Given the description of an element on the screen output the (x, y) to click on. 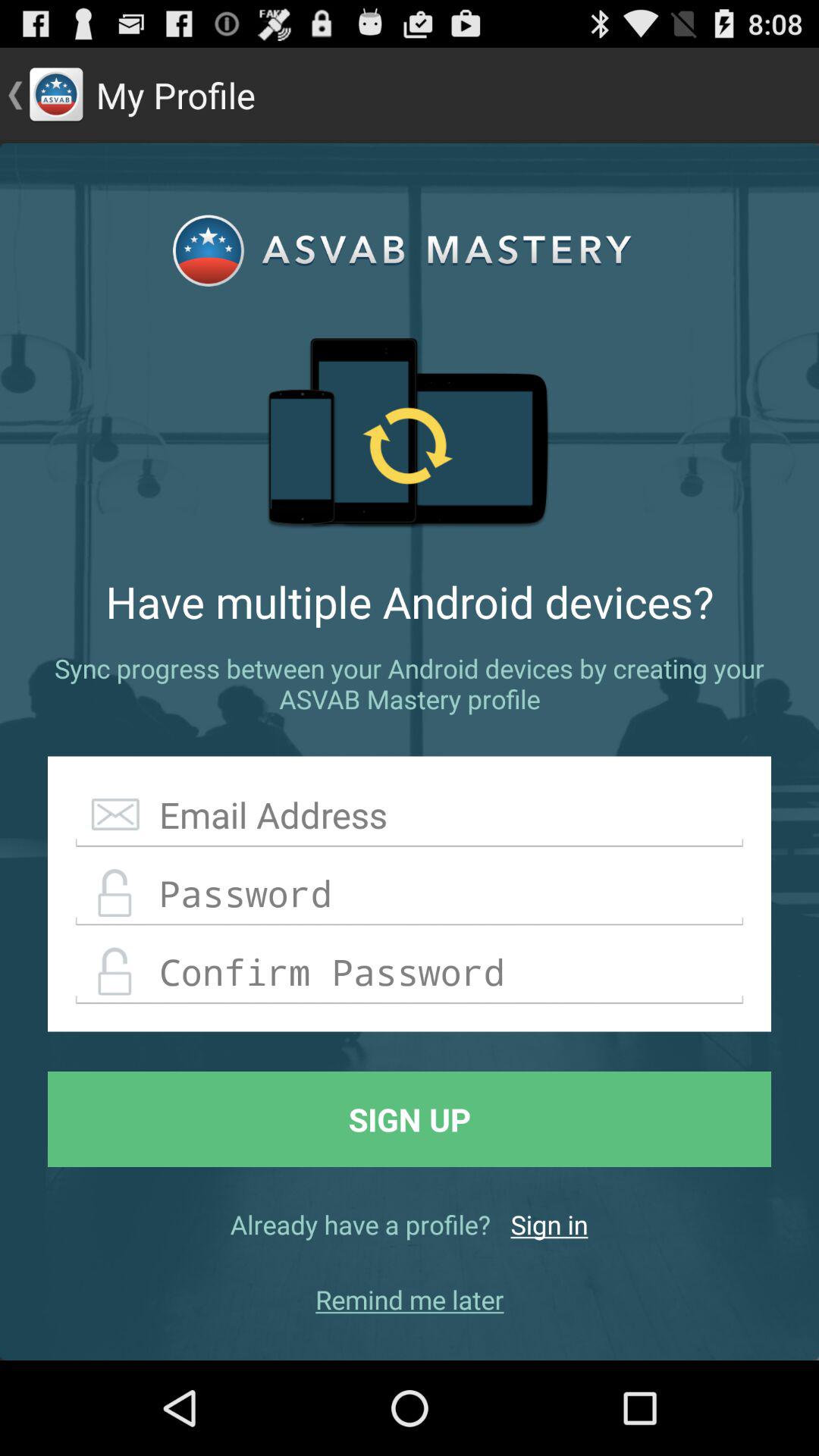
choose the item to the right of already have a app (549, 1224)
